Given the description of an element on the screen output the (x, y) to click on. 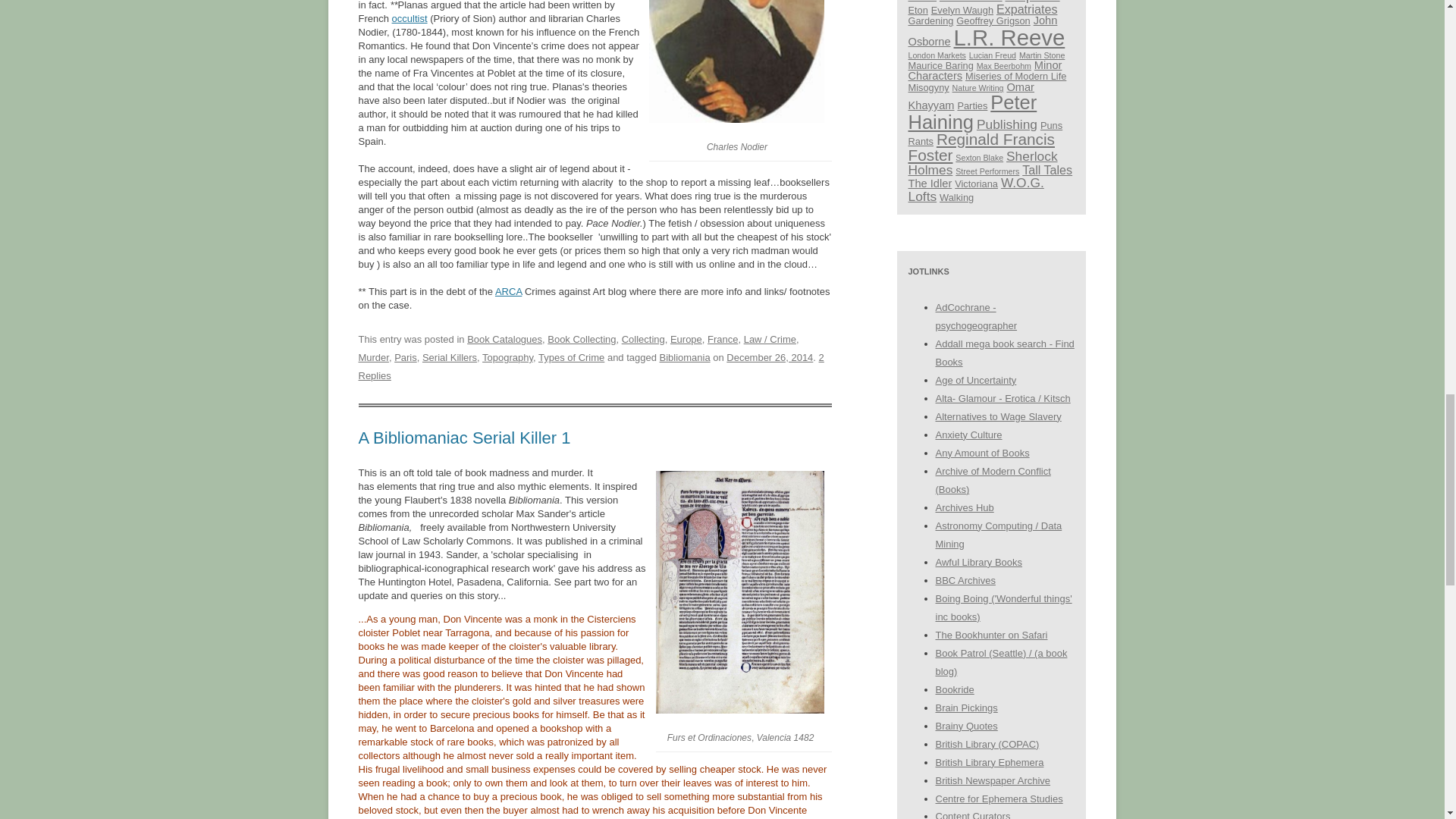
10:48 pm (769, 357)
